Given the description of an element on the screen output the (x, y) to click on. 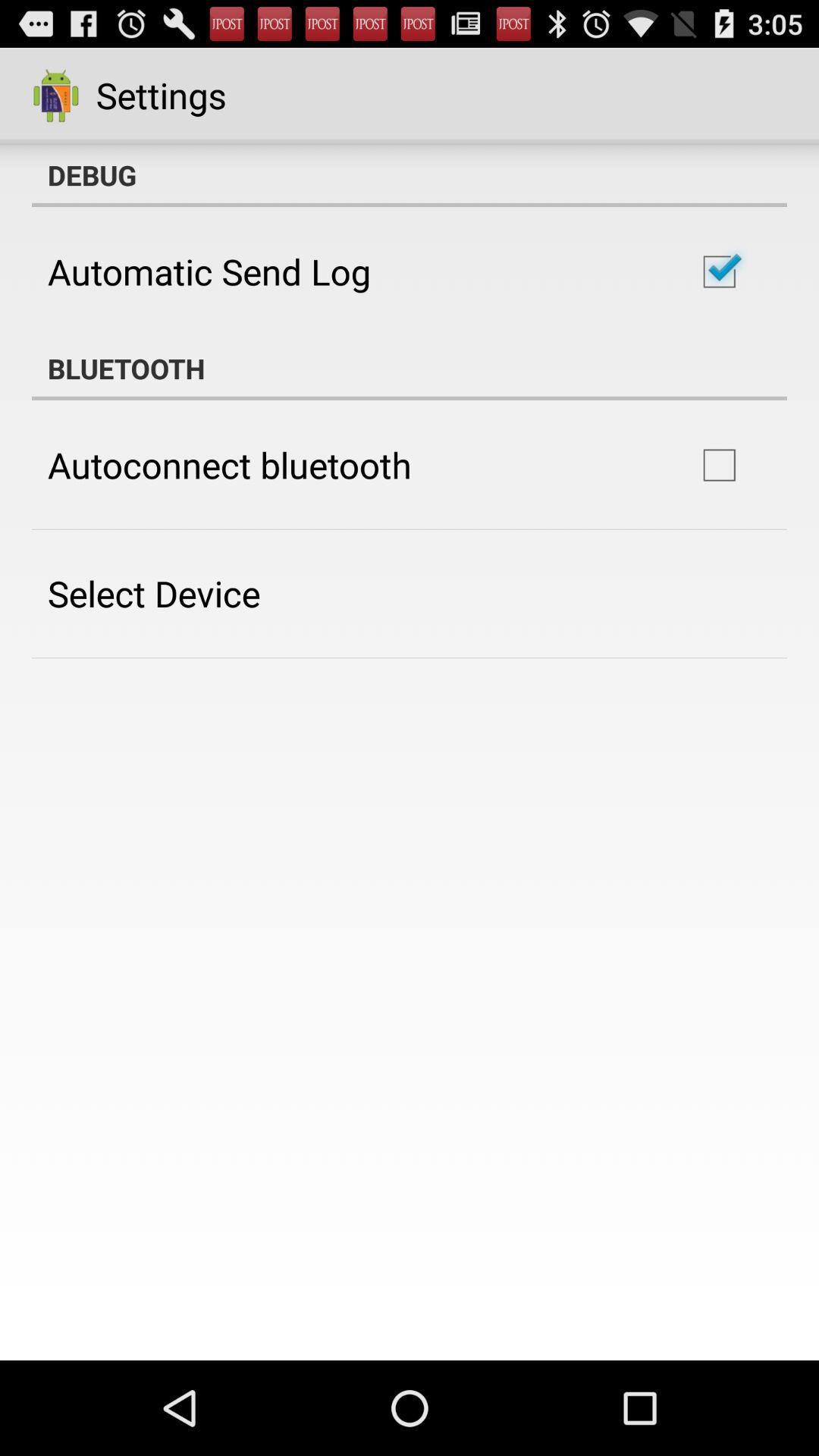
launch app on the left (153, 593)
